Given the description of an element on the screen output the (x, y) to click on. 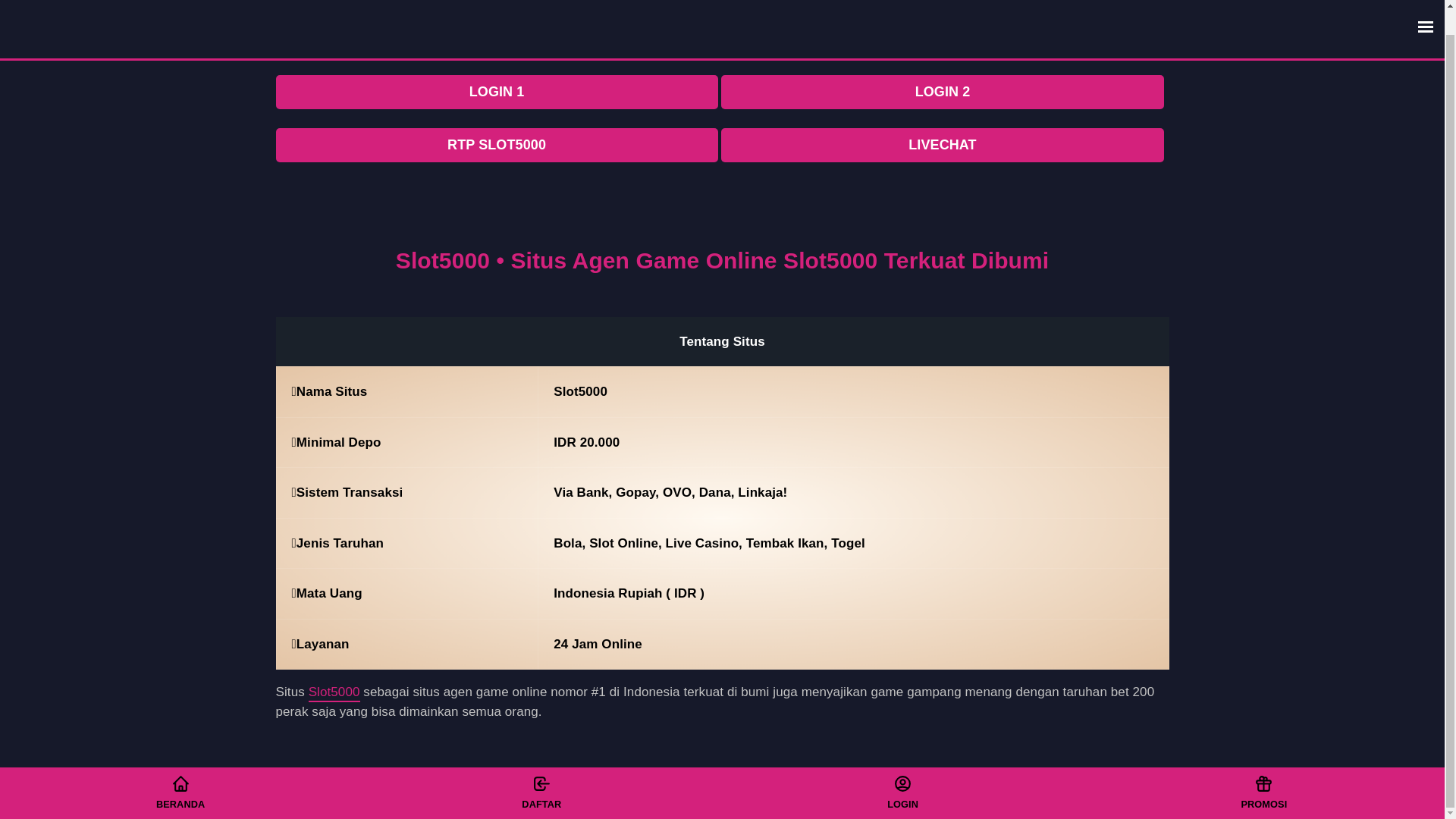
LOGIN 2 (941, 91)
LIVECHAT (941, 144)
RTP SLOT5000 (496, 144)
Promotion (903, 767)
Slot5000 (333, 692)
LOGIN 1 (496, 91)
Slot5000 (657, 801)
DAFTAR (541, 767)
Live Chat Slot5000 (1262, 767)
BERANDA (180, 767)
LOGIN (903, 767)
PROMOSI (1262, 767)
